Given the description of an element on the screen output the (x, y) to click on. 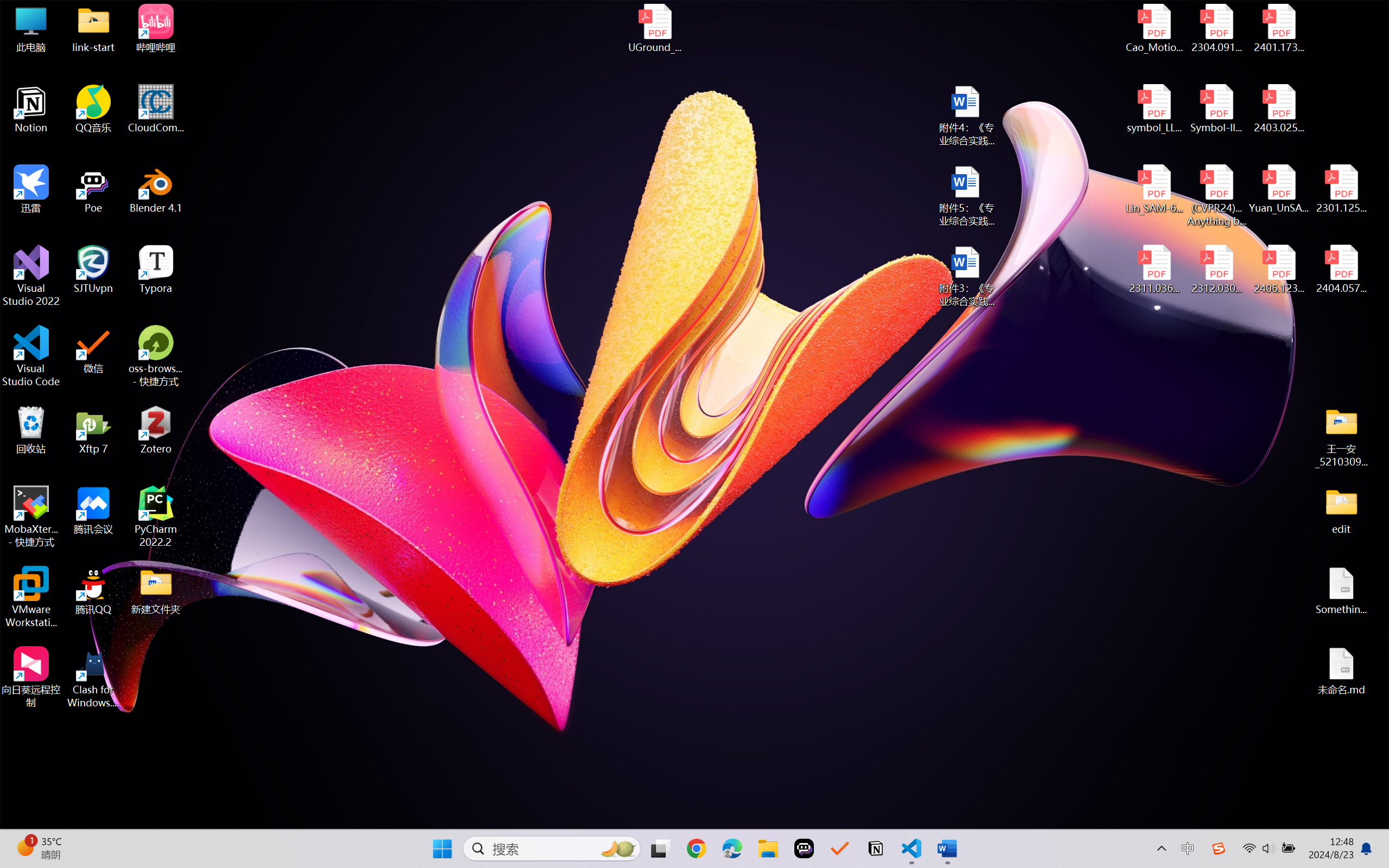
Something.md (1340, 591)
